Given the description of an element on the screen output the (x, y) to click on. 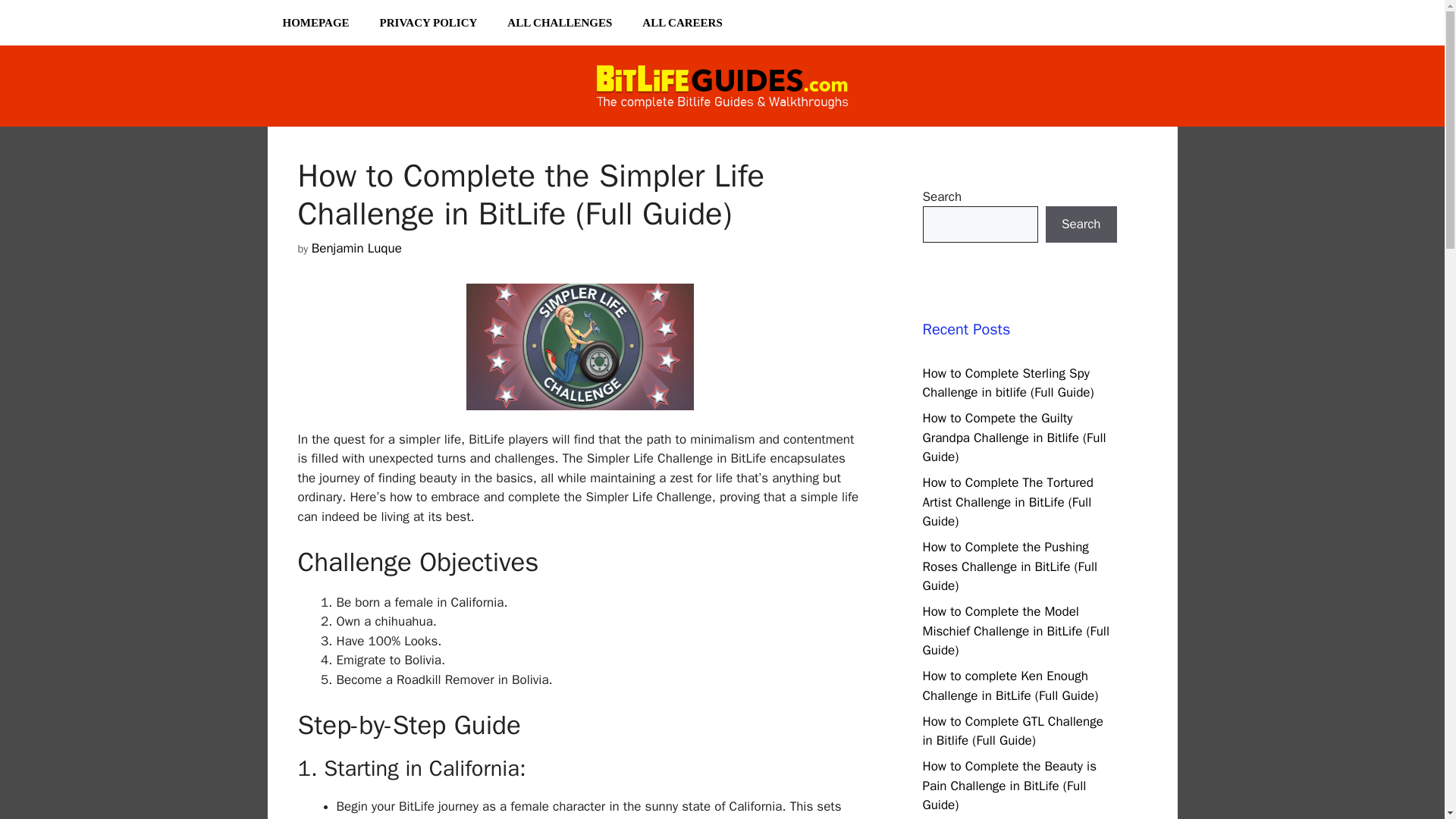
PRIVACY POLICY (429, 22)
HOMEPAGE (315, 22)
Benjamin Luque (356, 248)
View all posts by Benjamin Luque (356, 248)
ALL CAREERS (681, 22)
Search (1080, 224)
ALL CHALLENGES (559, 22)
